Given the description of an element on the screen output the (x, y) to click on. 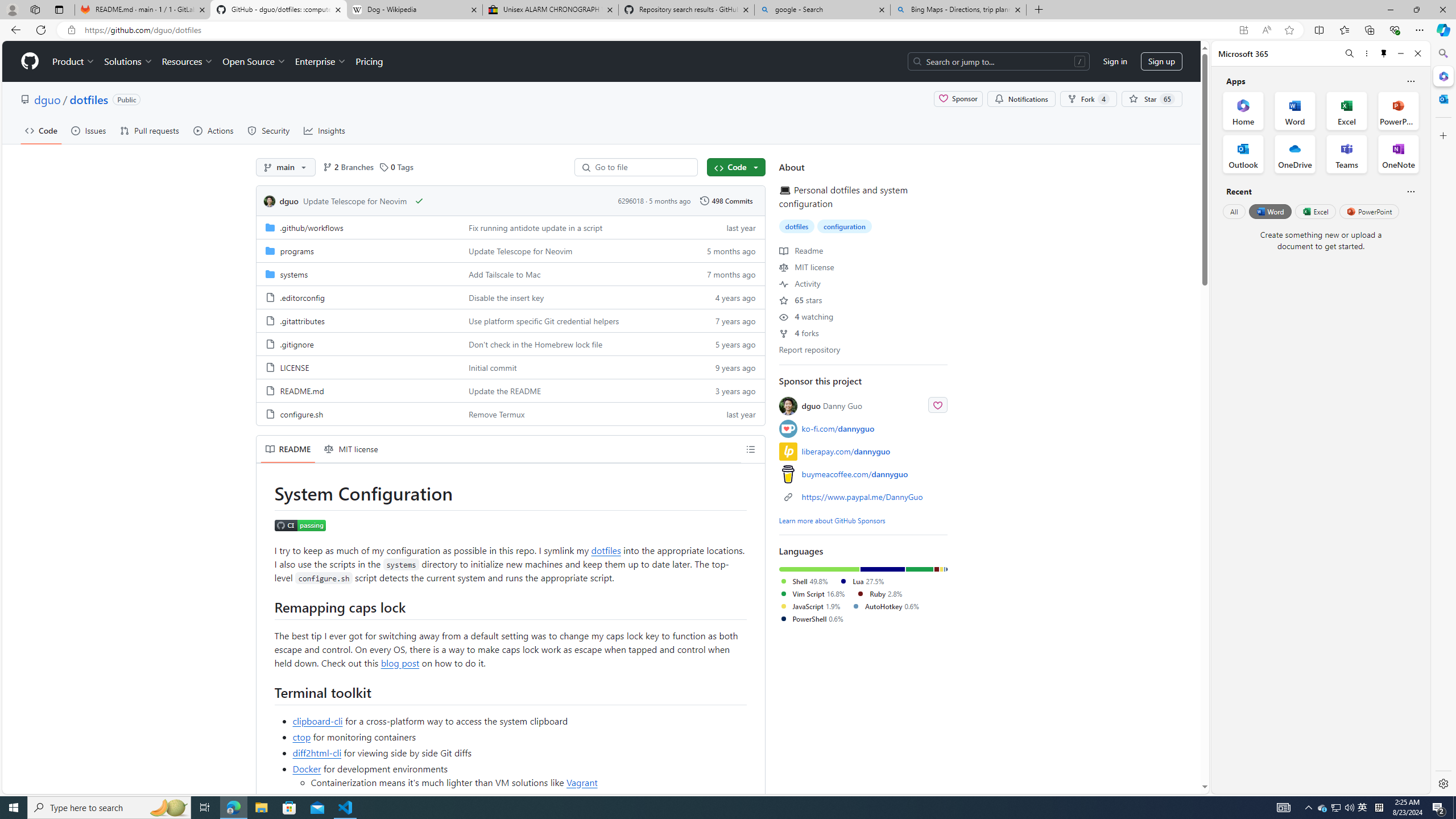
README (287, 449)
Use platform specific Git credential helpers (573, 320)
9 years ago (725, 366)
Don't check in the Homebrew lock file (573, 343)
AutomationID: folder-row-7 (510, 390)
AutomationID: folder-row-3 (510, 296)
.gitattributes, (File) (301, 320)
Sponsor (957, 98)
Learn more about GitHub Sponsors (831, 519)
success (419, 200)
https://www.paypal.me/DannyGuo (862, 496)
Fix running antidote update in a script (573, 227)
